Given the description of an element on the screen output the (x, y) to click on. 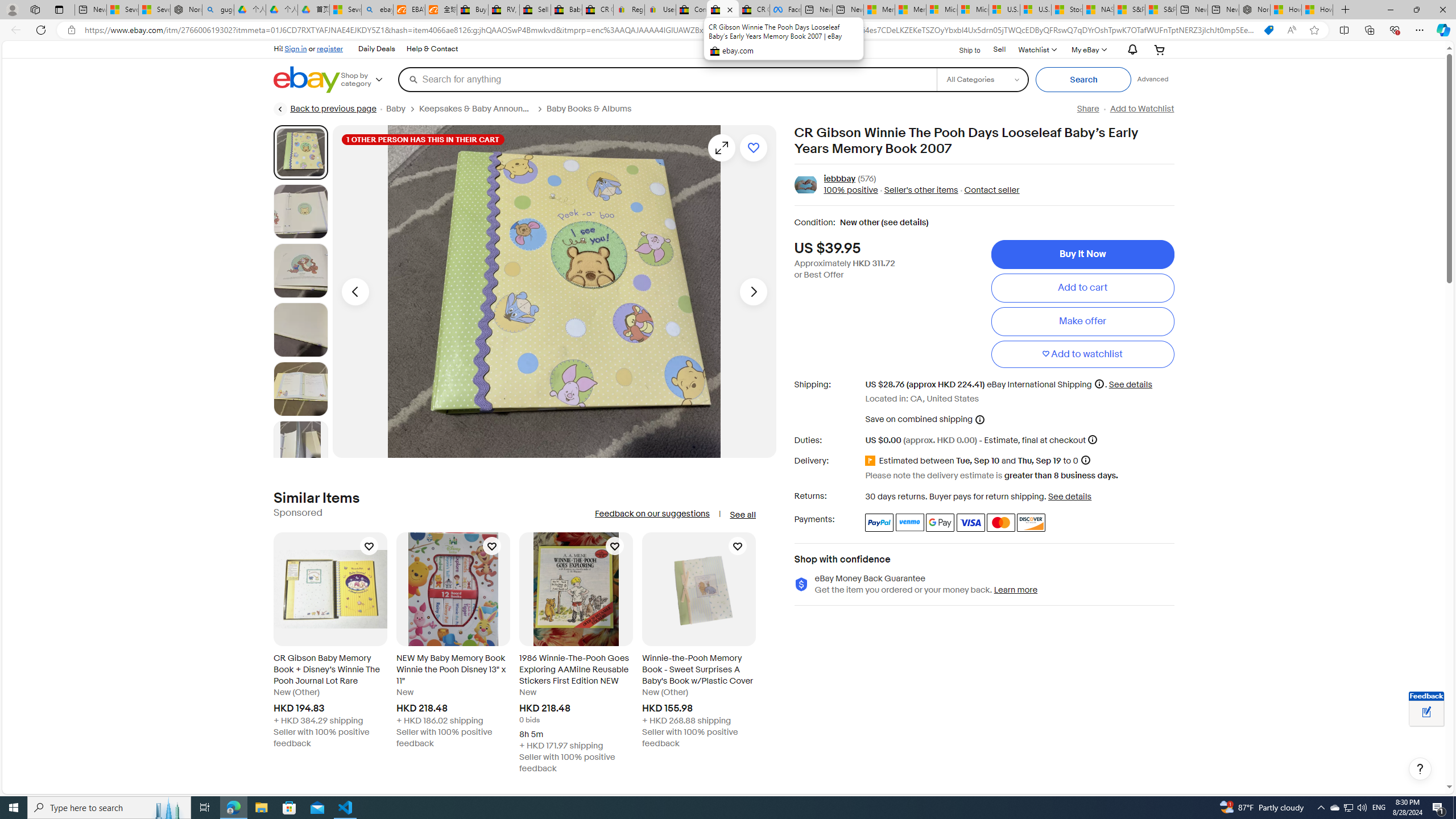
Read aloud this page (Ctrl+Shift+U) (1291, 29)
You have the best price! (1268, 29)
Picture 2 of 22 (300, 211)
Feedback on our suggestions (652, 513)
Minimize (1390, 9)
Sell (999, 49)
See all (742, 514)
Back to previous page (325, 109)
(576) (866, 179)
Daily Deals (376, 49)
Picture 1 of 22 (300, 152)
